Given the description of an element on the screen output the (x, y) to click on. 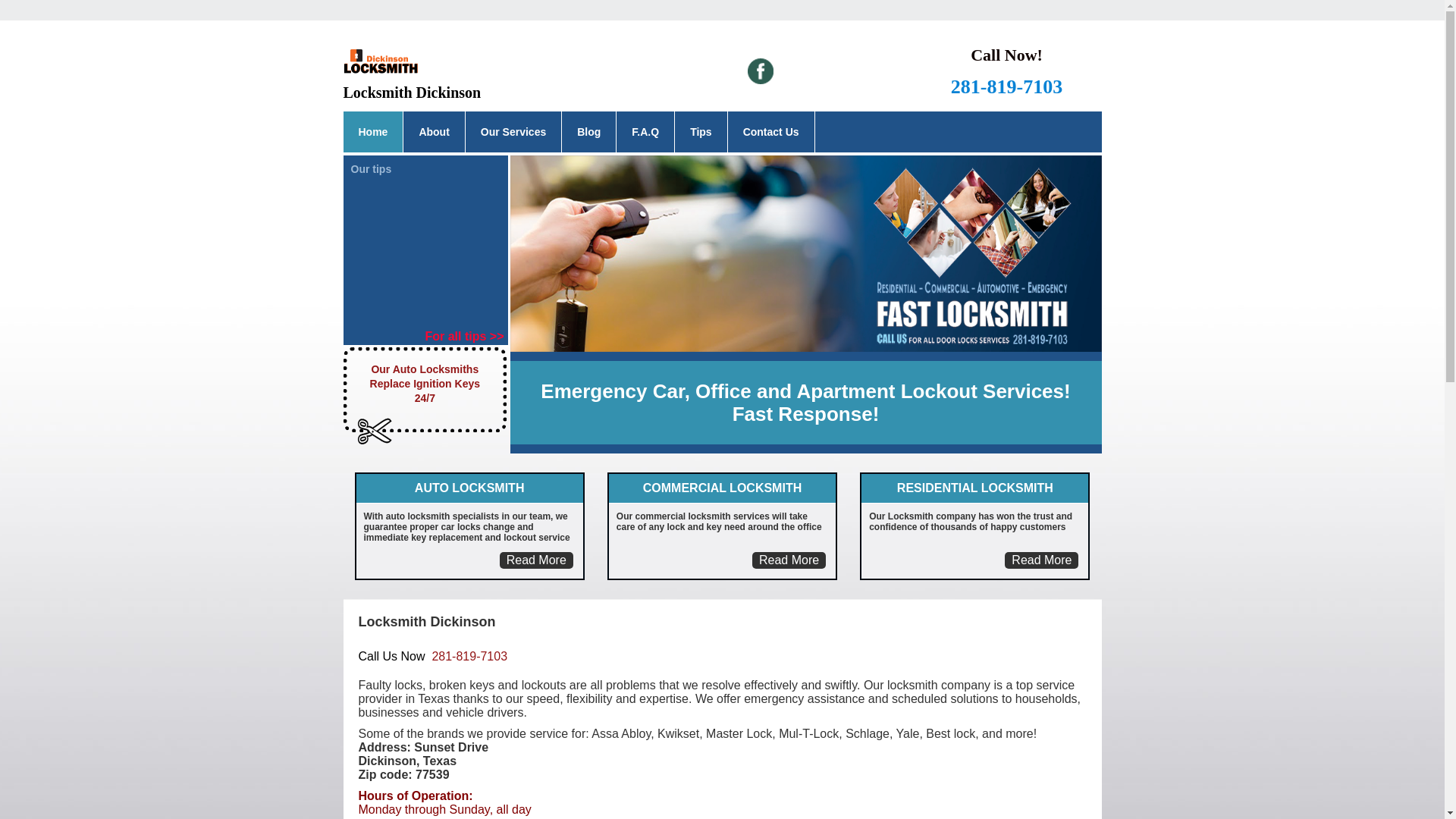
Tips Element type: text (700, 131)
F.A.Q Element type: text (645, 131)
For all tips >> Element type: text (465, 336)
Read More Element type: text (1041, 560)
Contact Us Element type: text (771, 131)
Facebook Element type: text (760, 71)
Home Element type: text (372, 131)
About Element type: text (433, 131)
281-819-7103 Element type: text (469, 655)
Read More Element type: text (788, 560)
Our Auto Locksmiths Replace Ignition Keys 24/7 Element type: text (425, 389)
Read More Element type: text (536, 560)
Our Services Element type: text (513, 131)
Blog Element type: text (588, 131)
